Given the description of an element on the screen output the (x, y) to click on. 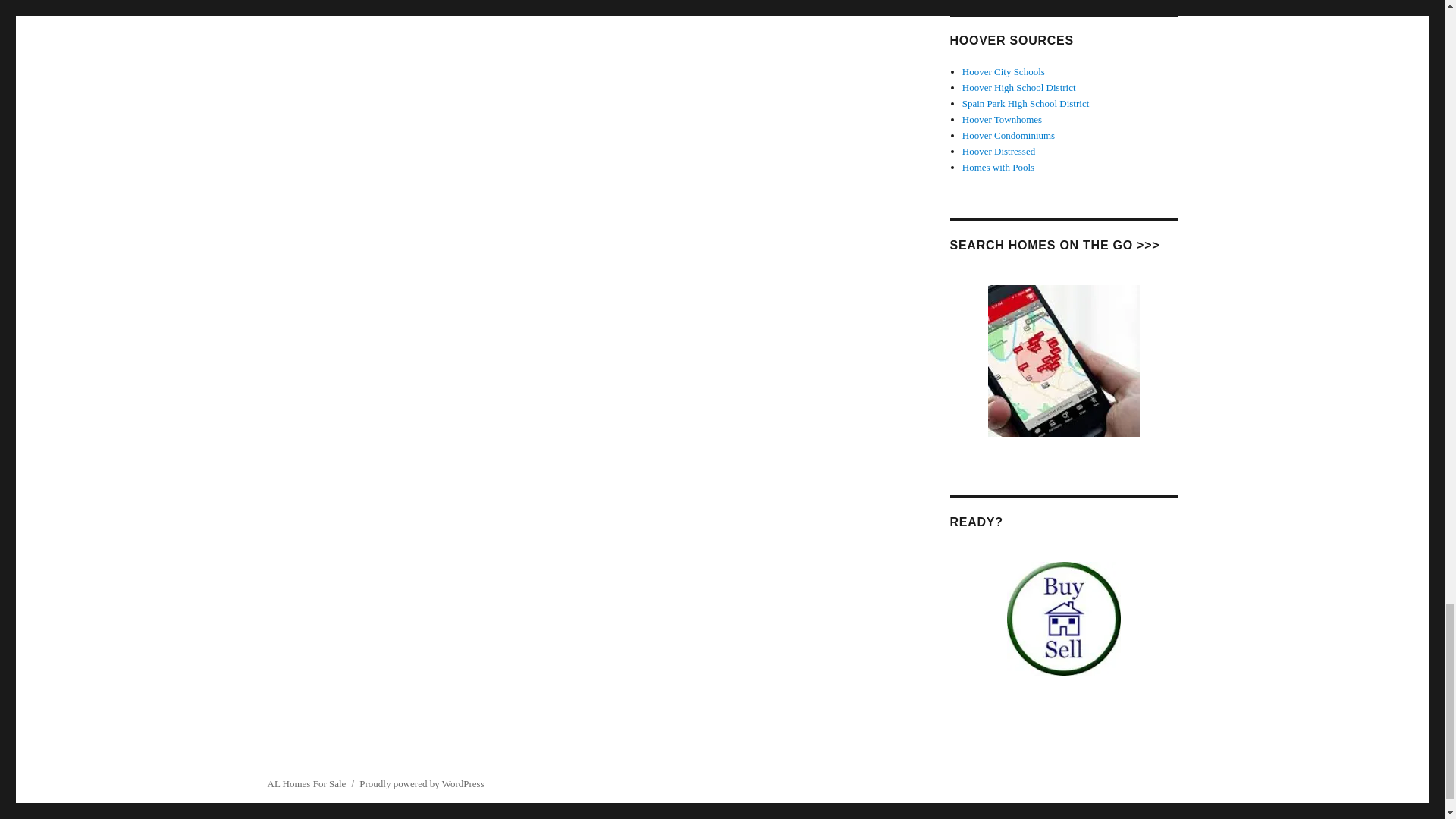
Hoover High School District (1018, 87)
Spain Park High School District (1025, 102)
